Given the description of an element on the screen output the (x, y) to click on. 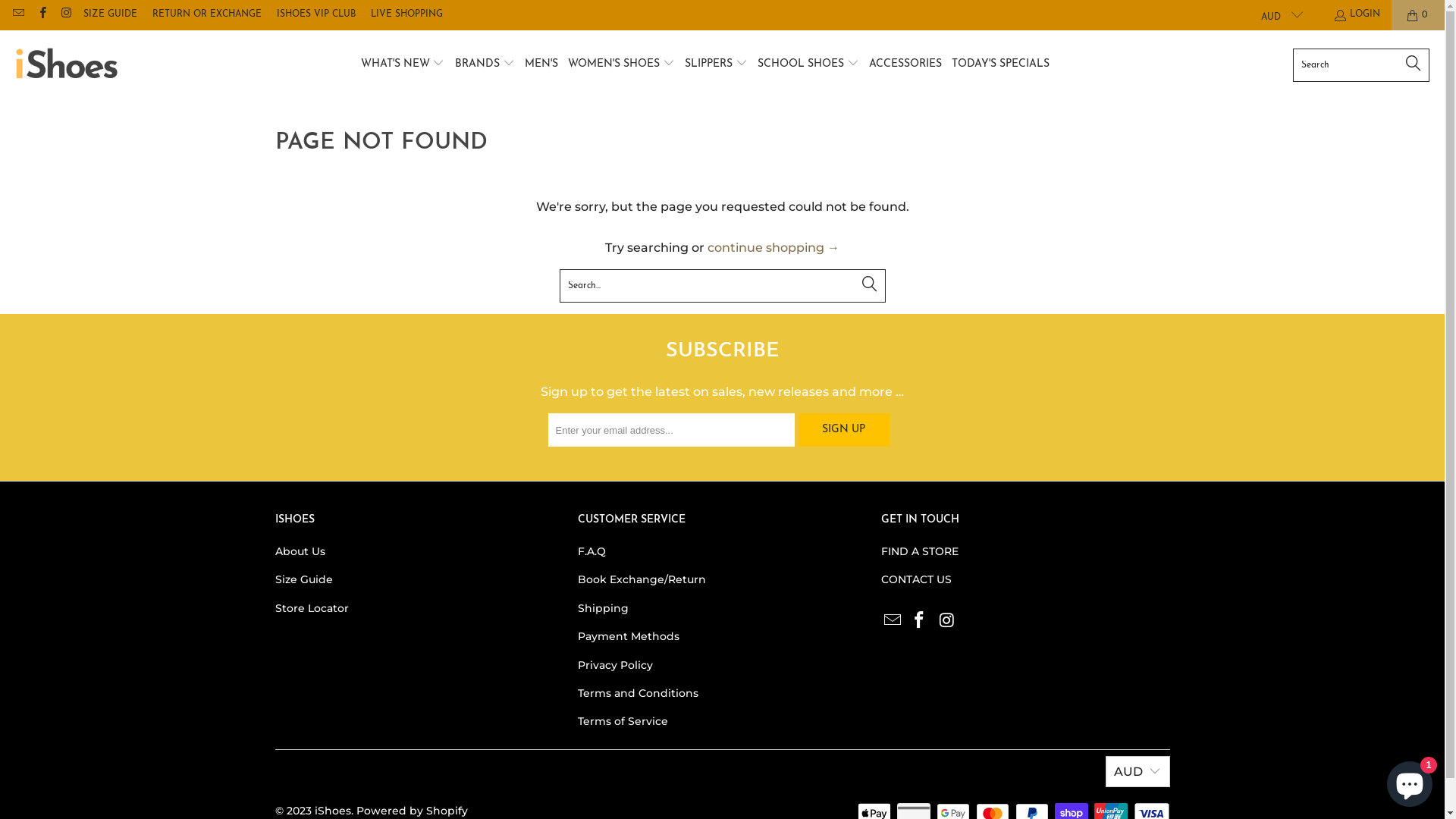
TODAY'S SPECIALS Element type: text (1000, 64)
Terms and Conditions Element type: text (637, 692)
ISHOES VIP CLUB Element type: text (315, 15)
RETURN OR EXCHANGE Element type: text (206, 15)
Payment Methods Element type: text (628, 636)
iShoes on Instagram Element type: hover (65, 14)
Book Exchange/Return Element type: text (641, 579)
F.A.Q Element type: text (591, 551)
Privacy Policy Element type: text (614, 664)
0 Element type: text (1417, 15)
Email iShoes Element type: hover (892, 620)
Email iShoes Element type: hover (17, 14)
iShoes on Facebook Element type: hover (919, 620)
Store Locator Element type: text (311, 608)
AUD Element type: text (1275, 15)
Terms of Service Element type: text (622, 721)
LOGIN Element type: text (1356, 15)
SIZE GUIDE Element type: text (110, 15)
ACCESSORIES Element type: text (905, 64)
About Us Element type: text (299, 551)
iShoes on Facebook Element type: hover (40, 14)
iShoes on Instagram Element type: hover (946, 620)
Powered by Shopify Element type: text (411, 810)
Size Guide Element type: text (303, 579)
CONTACT US Element type: text (916, 579)
AUD Element type: text (1137, 771)
FIND A STORE Element type: text (919, 551)
Sign Up Element type: text (842, 429)
MEN'S Element type: text (541, 64)
iShoes Element type: text (331, 810)
LIVE SHOPPING Element type: text (406, 15)
Shopify online store chat Element type: hover (1409, 780)
iShoes Element type: hover (66, 64)
Shipping Element type: text (602, 608)
